Given the description of an element on the screen output the (x, y) to click on. 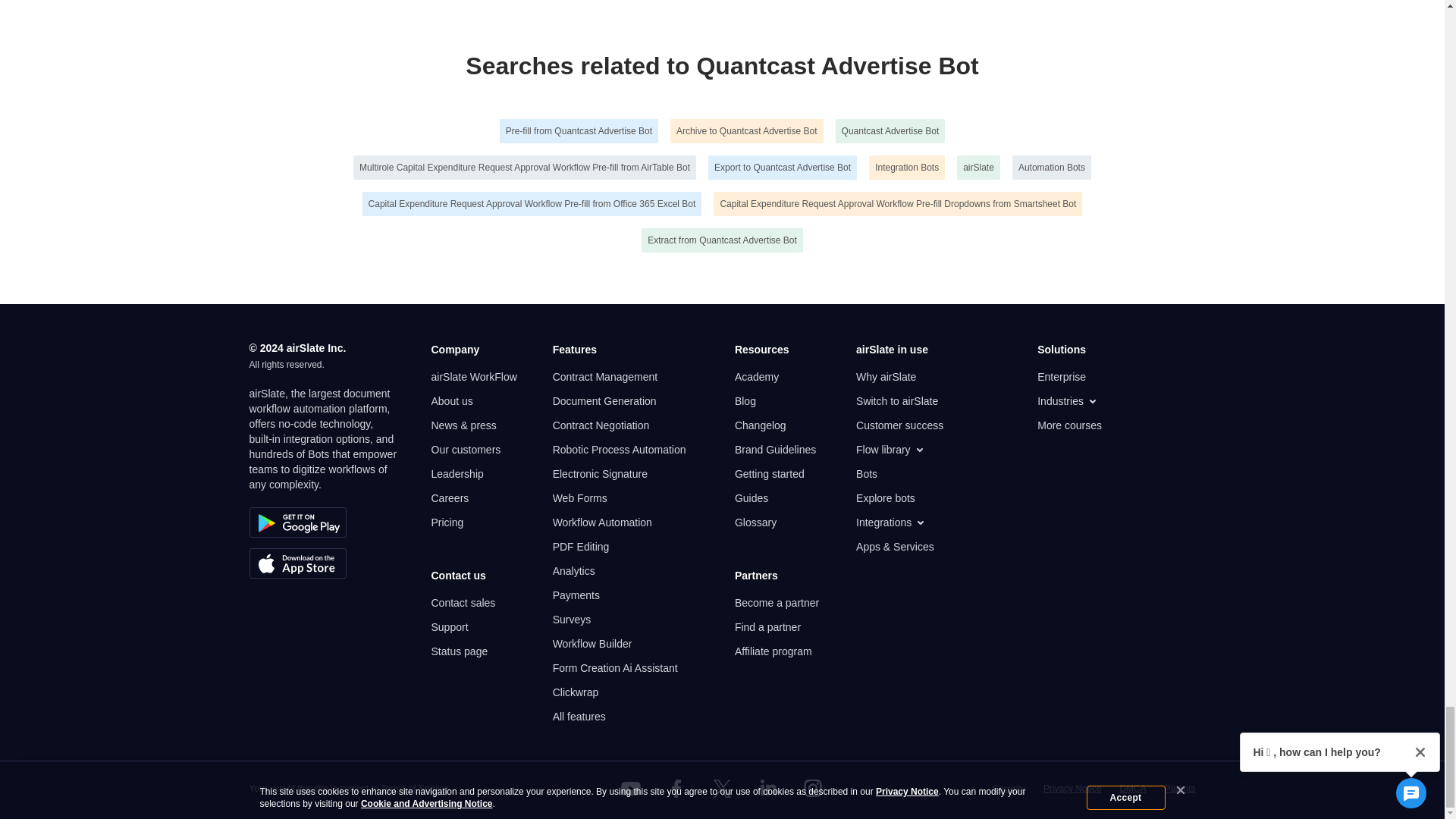
YouTube (630, 788)
Instagram (812, 788)
LinkedIn (767, 788)
Twitter (721, 788)
Facebook (676, 788)
